Given the description of an element on the screen output the (x, y) to click on. 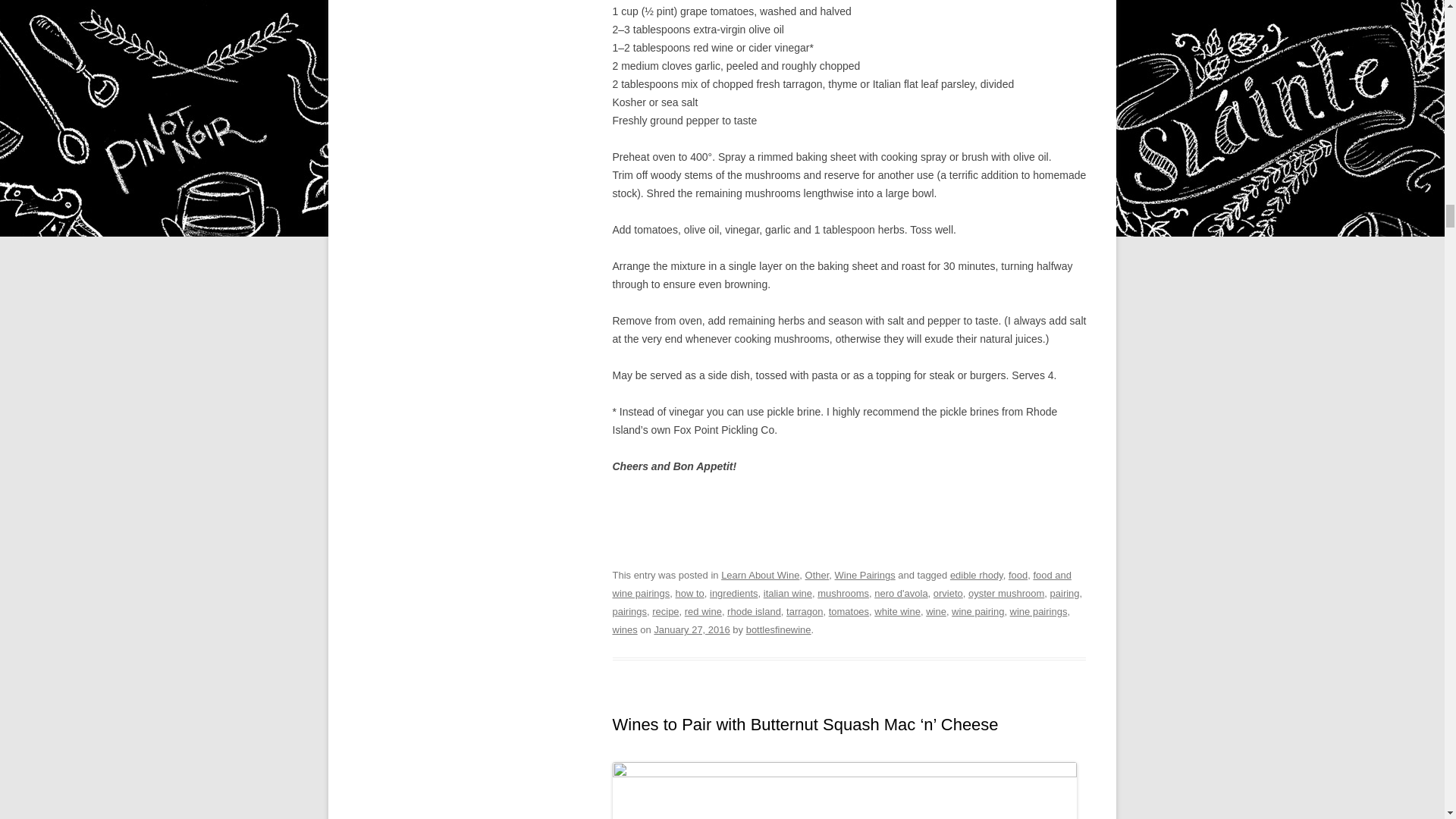
7:49 PM (691, 629)
View all posts by bottlesfinewine (777, 629)
